Given the description of an element on the screen output the (x, y) to click on. 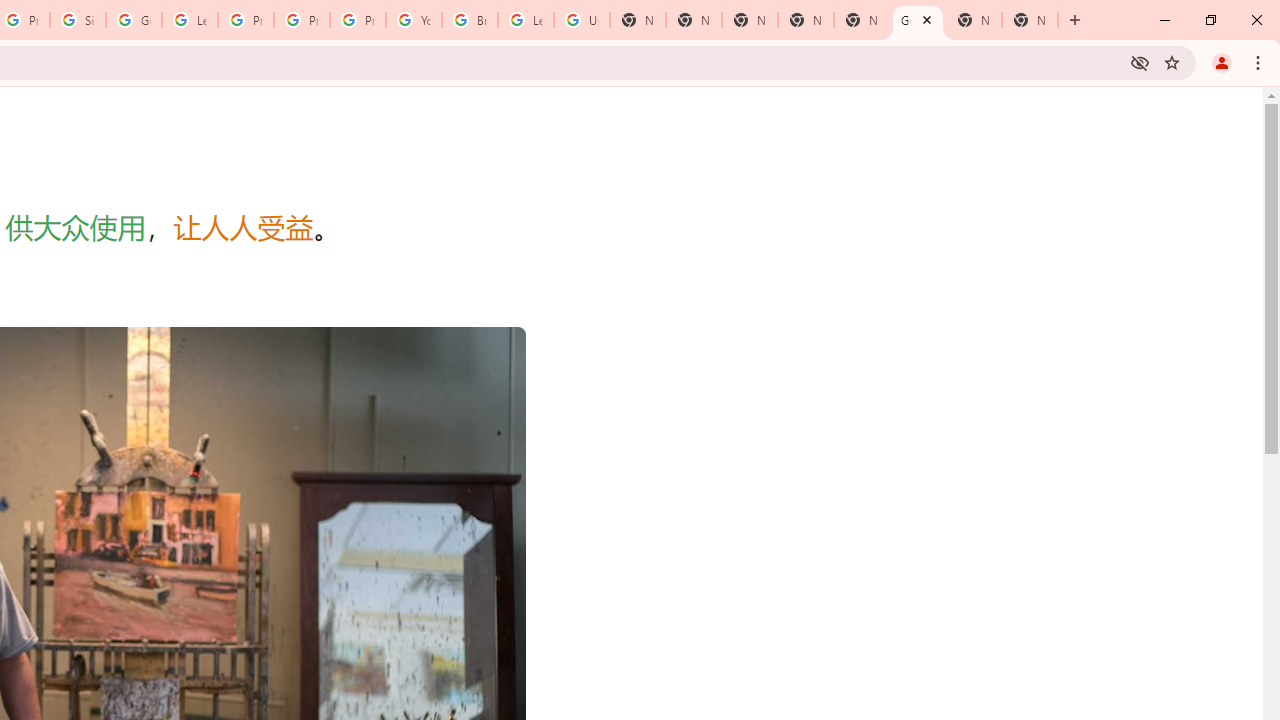
New Tab (1030, 20)
YouTube (413, 20)
Sign in - Google Accounts (77, 20)
New Tab (749, 20)
